Given the description of an element on the screen output the (x, y) to click on. 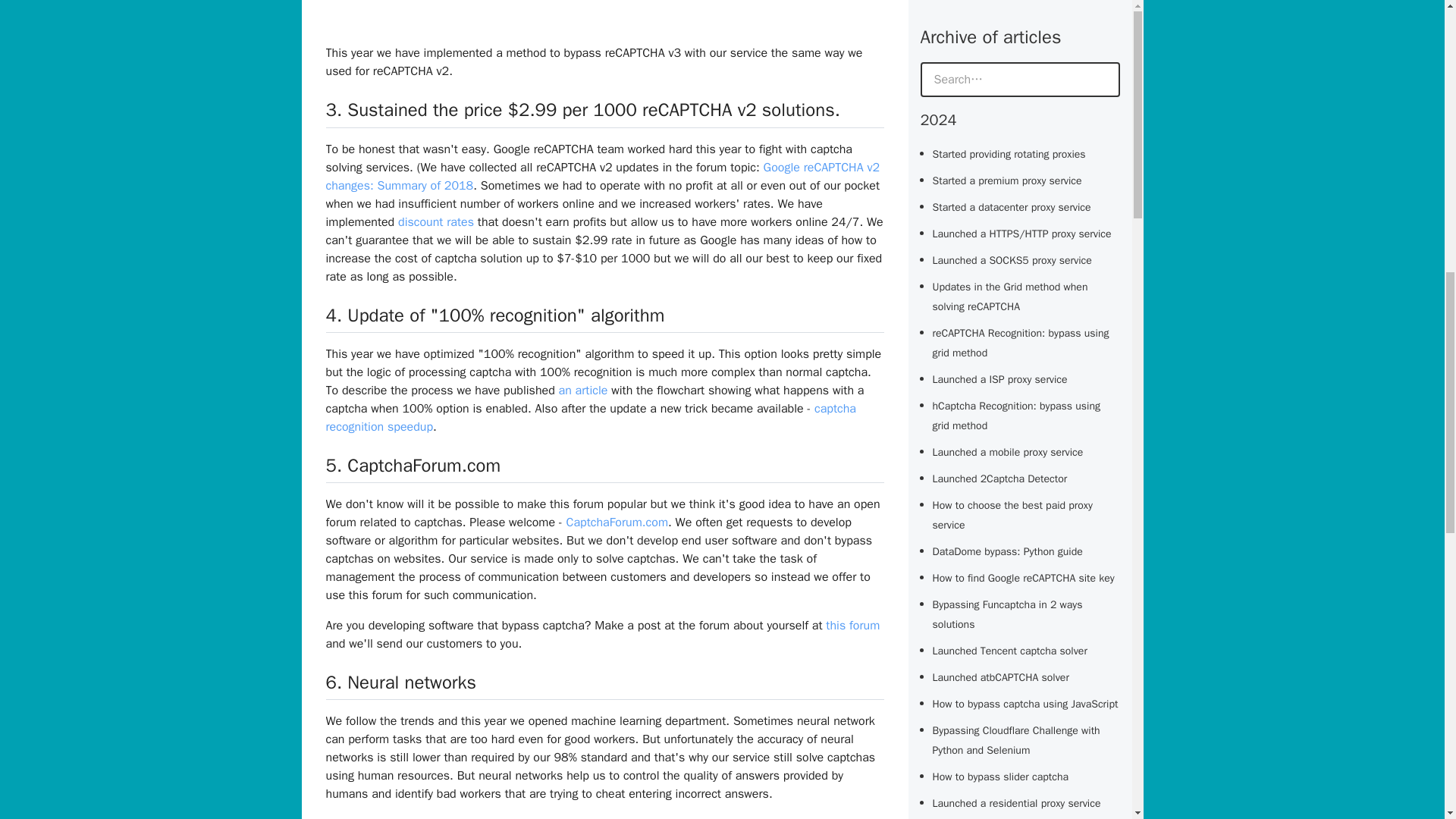
YouTube video player (538, 19)
discount rates (435, 222)
CaptchaForum.com (617, 522)
this forum (852, 625)
6. Neural networks (401, 681)
captcha recognition speedup (591, 417)
an article (583, 390)
5. CaptchaForum.com (413, 465)
Google reCAPTCHA v2 changes: Summary of 2018 (603, 176)
